Given the description of an element on the screen output the (x, y) to click on. 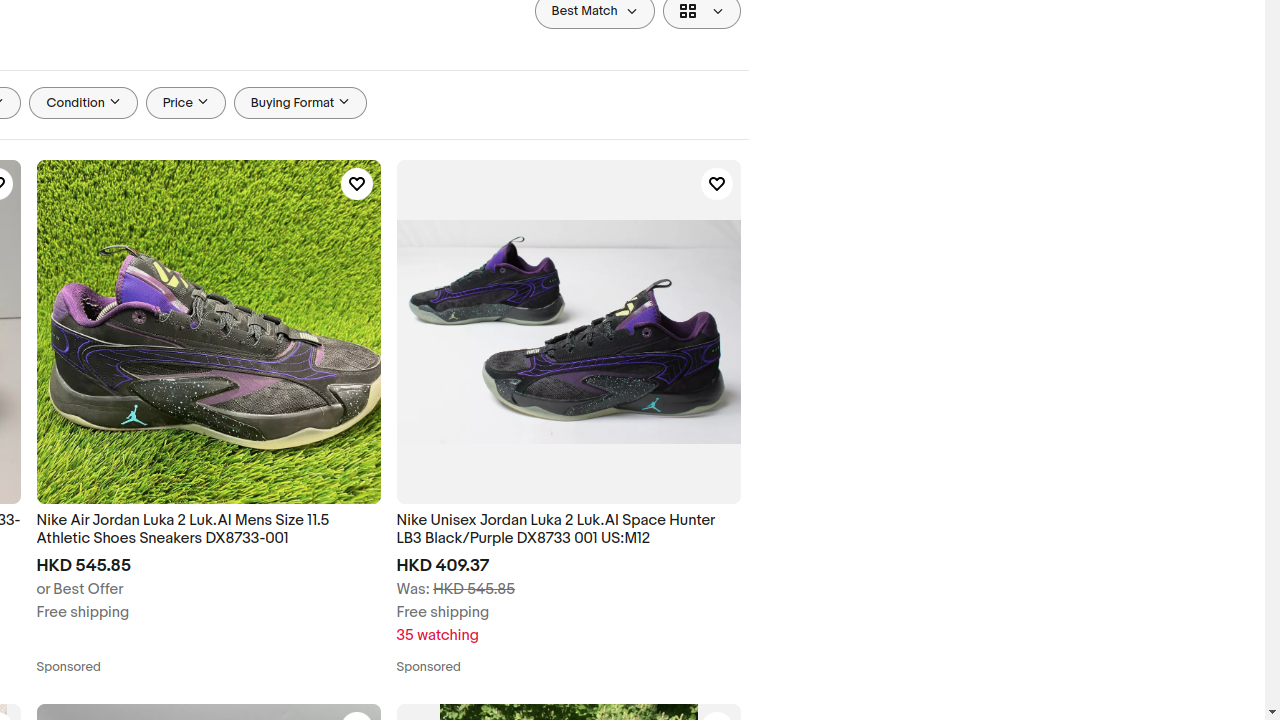
Nike Air Jordan Luka 2 Luk.AI Mens Size 11.5 Athletic Shoes Sneakers DX8733-001 Element type: link (208, 530)
Click to watch item - Nike Unisex Jordan Luka 2 Luk.AI Space Hunter LB3 Black/Purple DX8733 001 US:M12 Element type: push-button (716, 184)
